Given the description of an element on the screen output the (x, y) to click on. 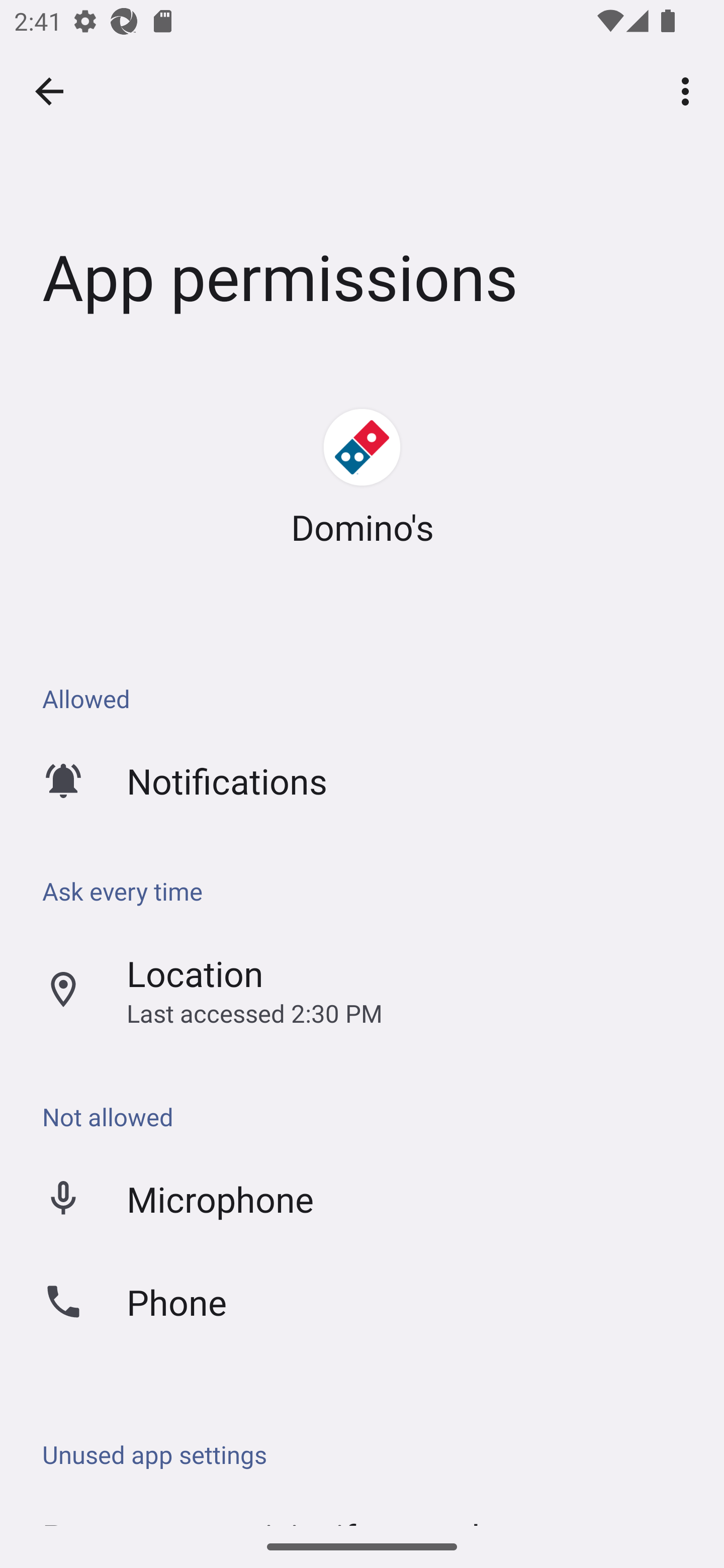
Back (49, 91)
More options (688, 90)
Notifications (362, 780)
Location Last accessed 2:30 PM (362, 989)
Microphone (362, 1198)
Phone (362, 1301)
